Given the description of an element on the screen output the (x, y) to click on. 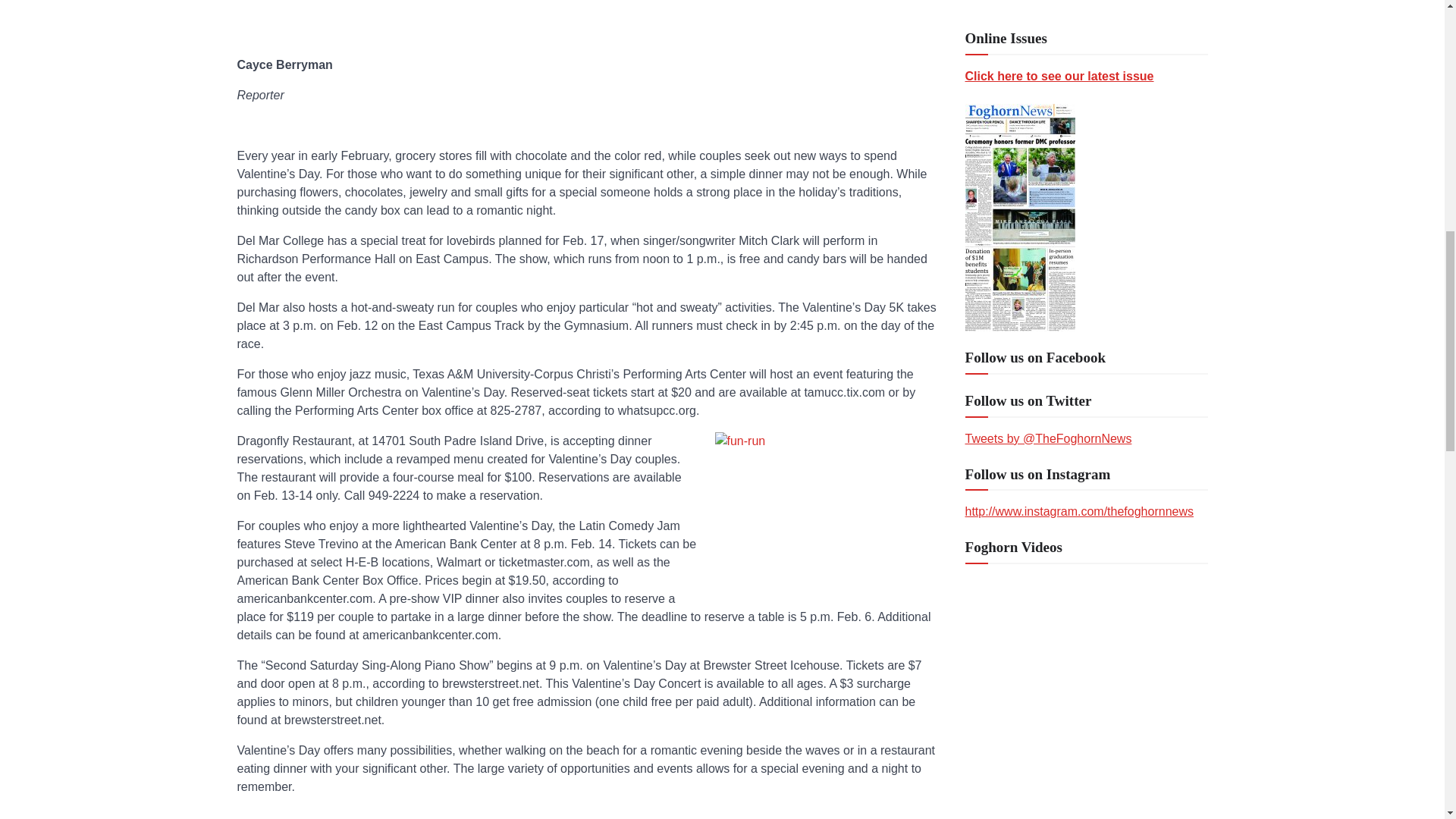
Send (988, 759)
Send (988, 759)
